Given the description of an element on the screen output the (x, y) to click on. 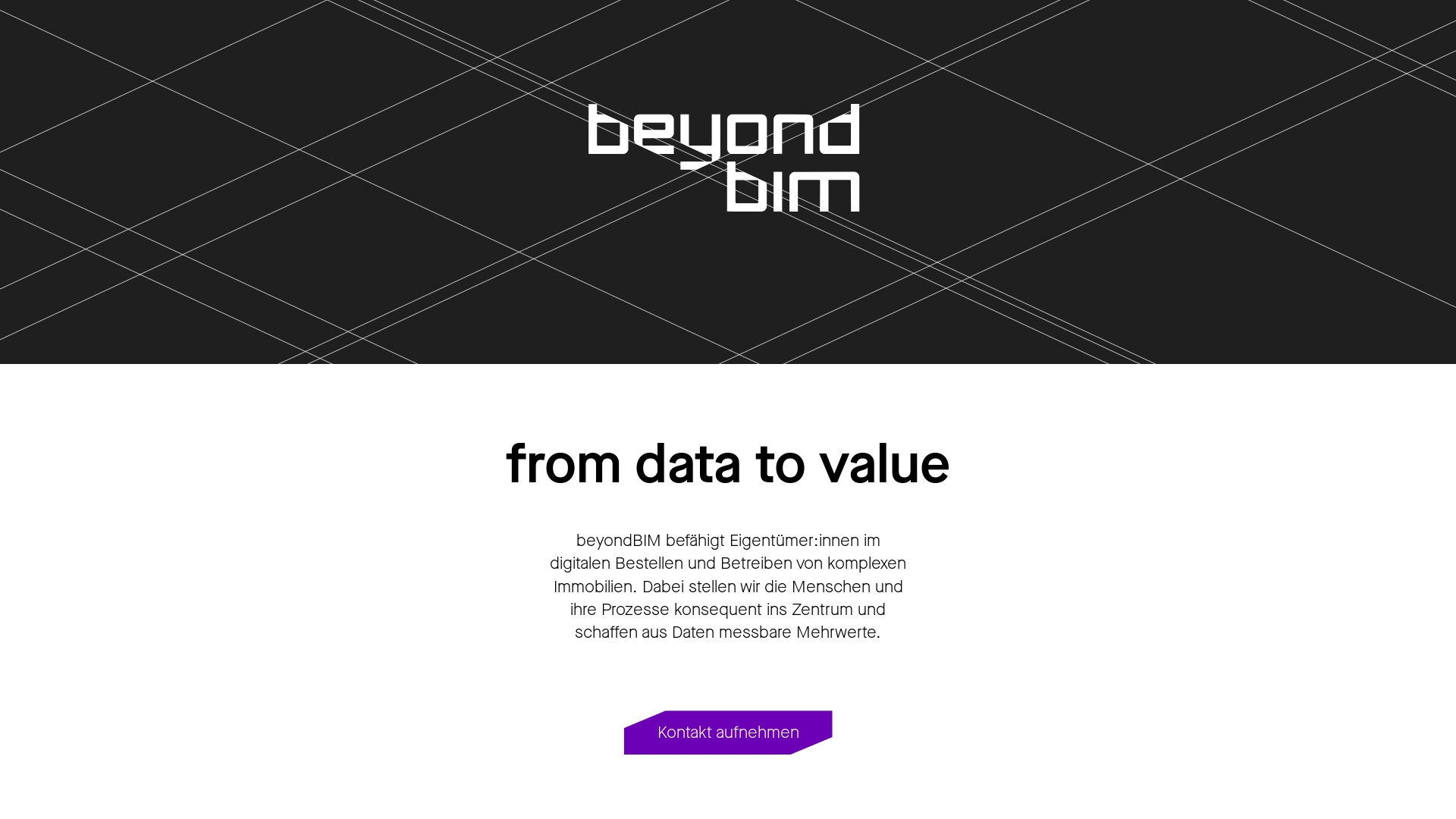
Kontakt aufnehmen Element type: text (727, 732)
+41 79 840 81 92 Element type: text (79, 719)
